Given the description of an element on the screen output the (x, y) to click on. 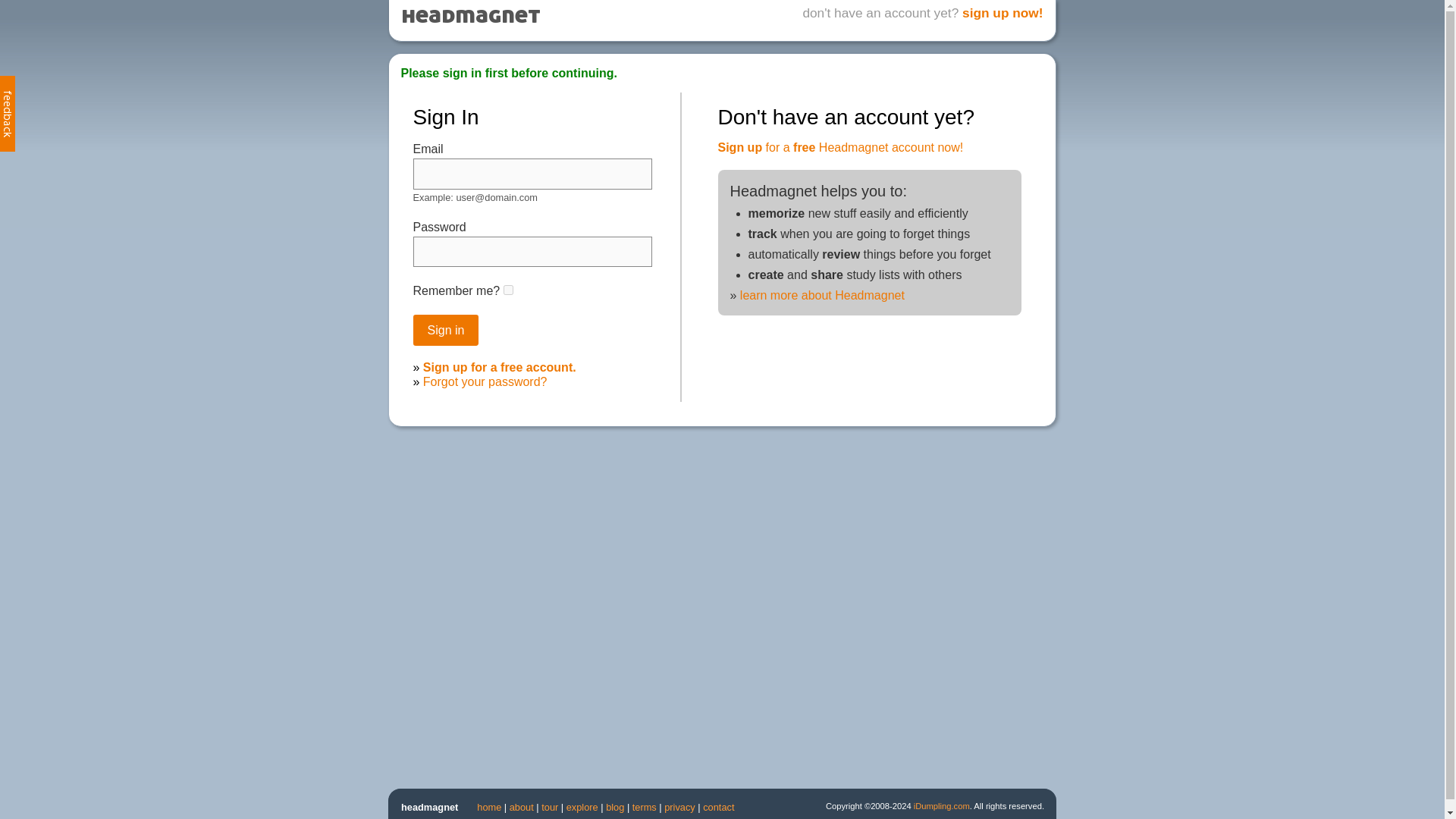
iDumpling.com (941, 805)
headmagnet (429, 807)
privacy (679, 807)
learn more about Headmagnet (821, 295)
tour (549, 807)
sign up now! (1002, 12)
Forgot your password? (485, 381)
Sign up for a free Headmagnet account now! (839, 146)
home (488, 807)
blog (614, 807)
terms (643, 807)
Sign up for a free account. (499, 367)
1 (508, 289)
contact (718, 807)
explore (582, 807)
